Given the description of an element on the screen output the (x, y) to click on. 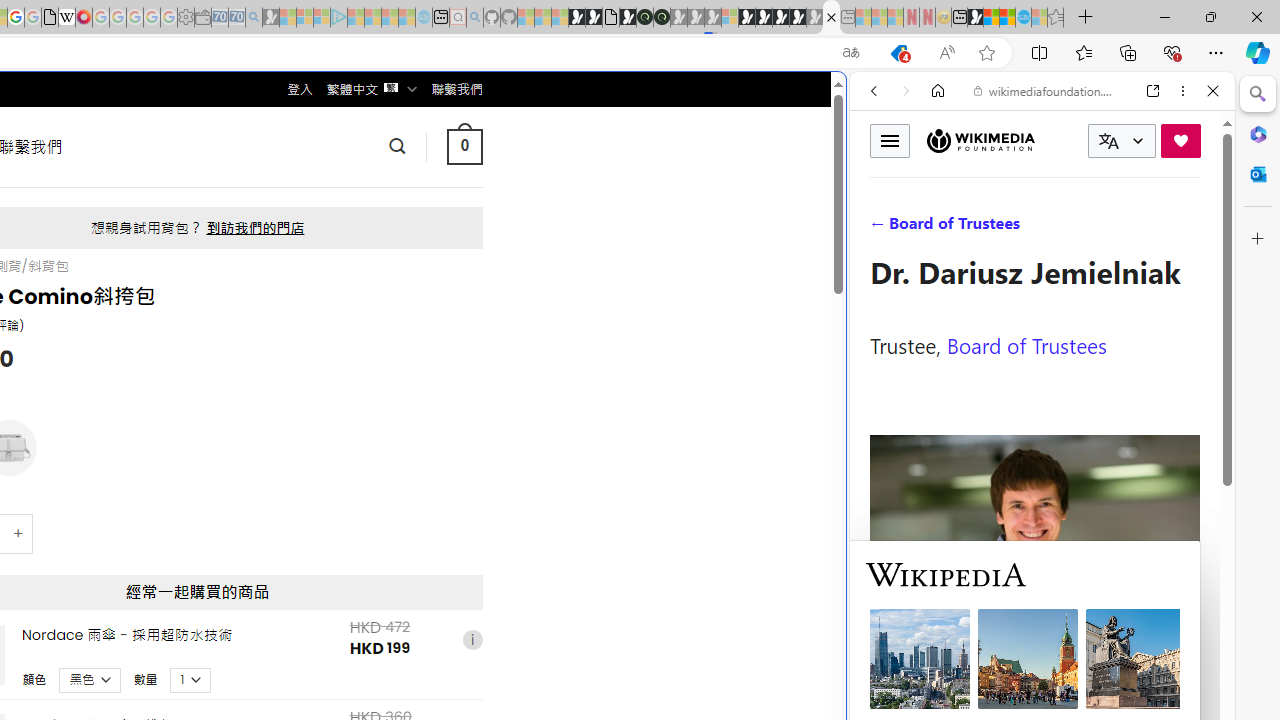
Wiktionary (1034, 669)
Donate now (1180, 140)
+ (19, 532)
